Given the description of an element on the screen output the (x, y) to click on. 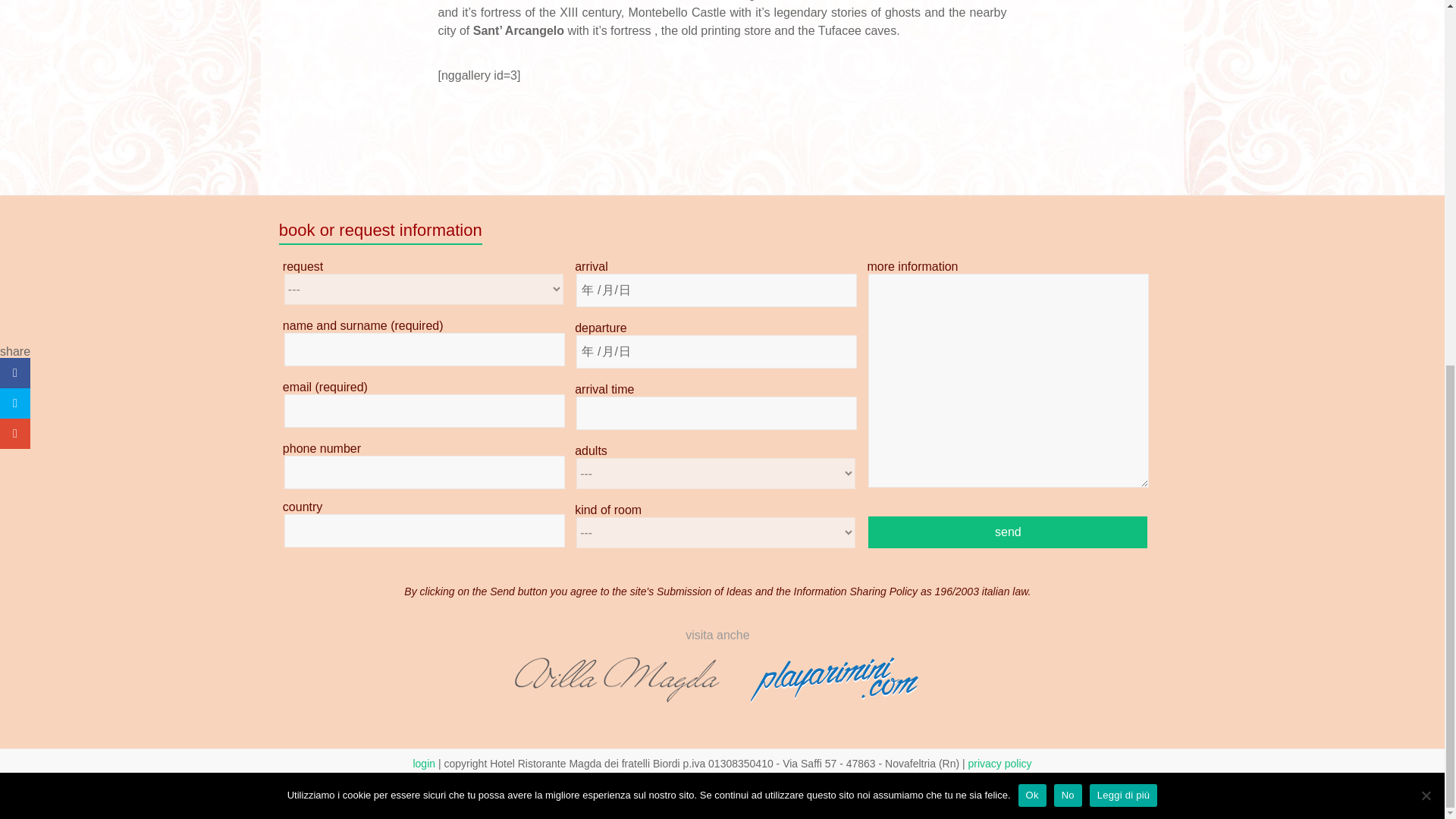
Tel. 0541 920817 (641, 776)
login (423, 763)
sito creato da aDUEtratti (721, 790)
No (1067, 138)
send (1007, 531)
send (1007, 531)
Ok (1031, 138)
privacy policy (1000, 763)
Cell. 338 2652879 (548, 776)
